Given the description of an element on the screen output the (x, y) to click on. 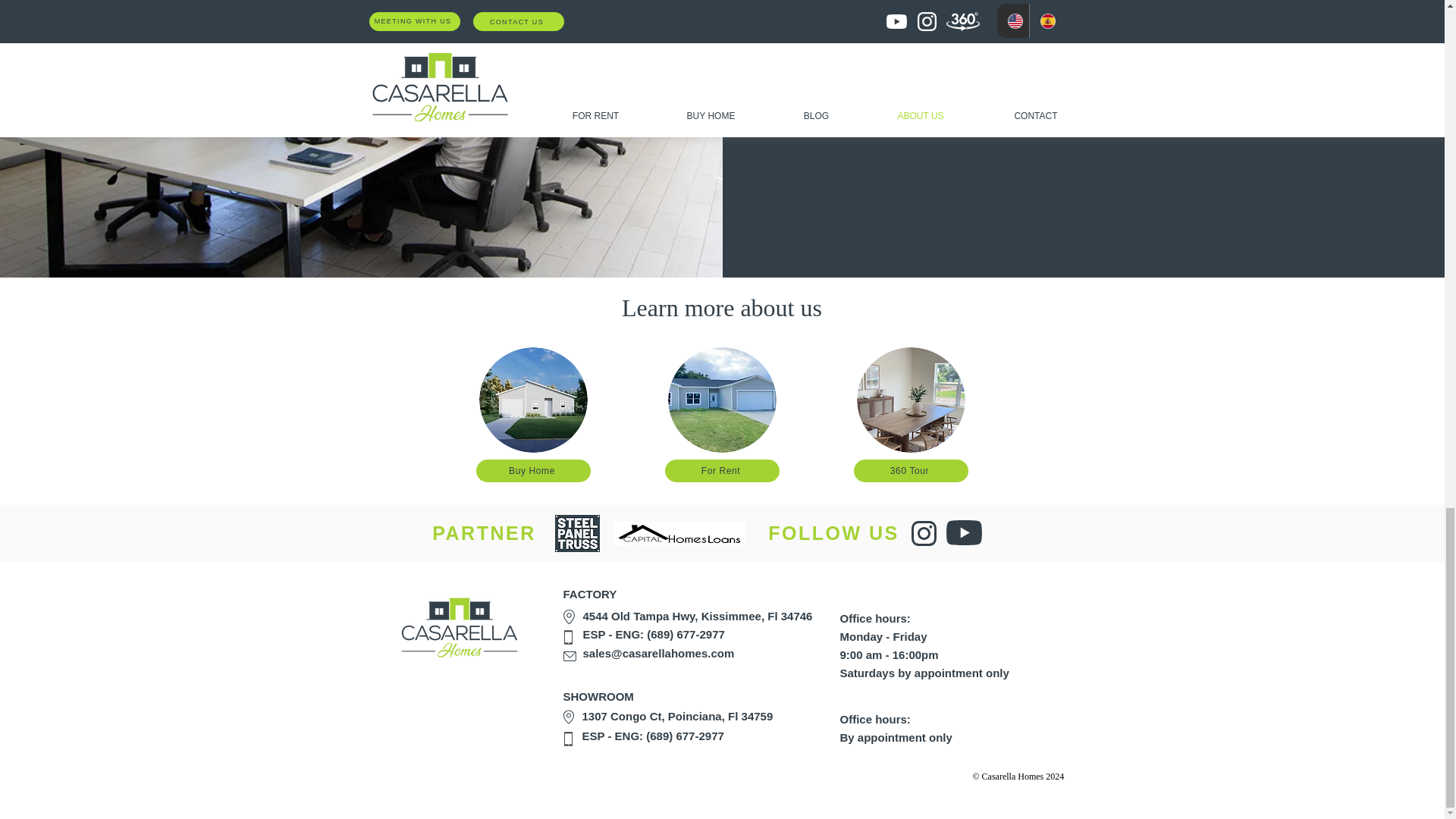
4544 Old Tampa Hwy, Kissimmee, Fl 34746 (697, 615)
Buy Home (533, 470)
FOLLOW US (833, 532)
PARTNER (483, 532)
1307 Congo Ct, Poinciana, Fl 34759 (677, 716)
For Rent (721, 470)
360 Tour (910, 470)
